Given the description of an element on the screen output the (x, y) to click on. 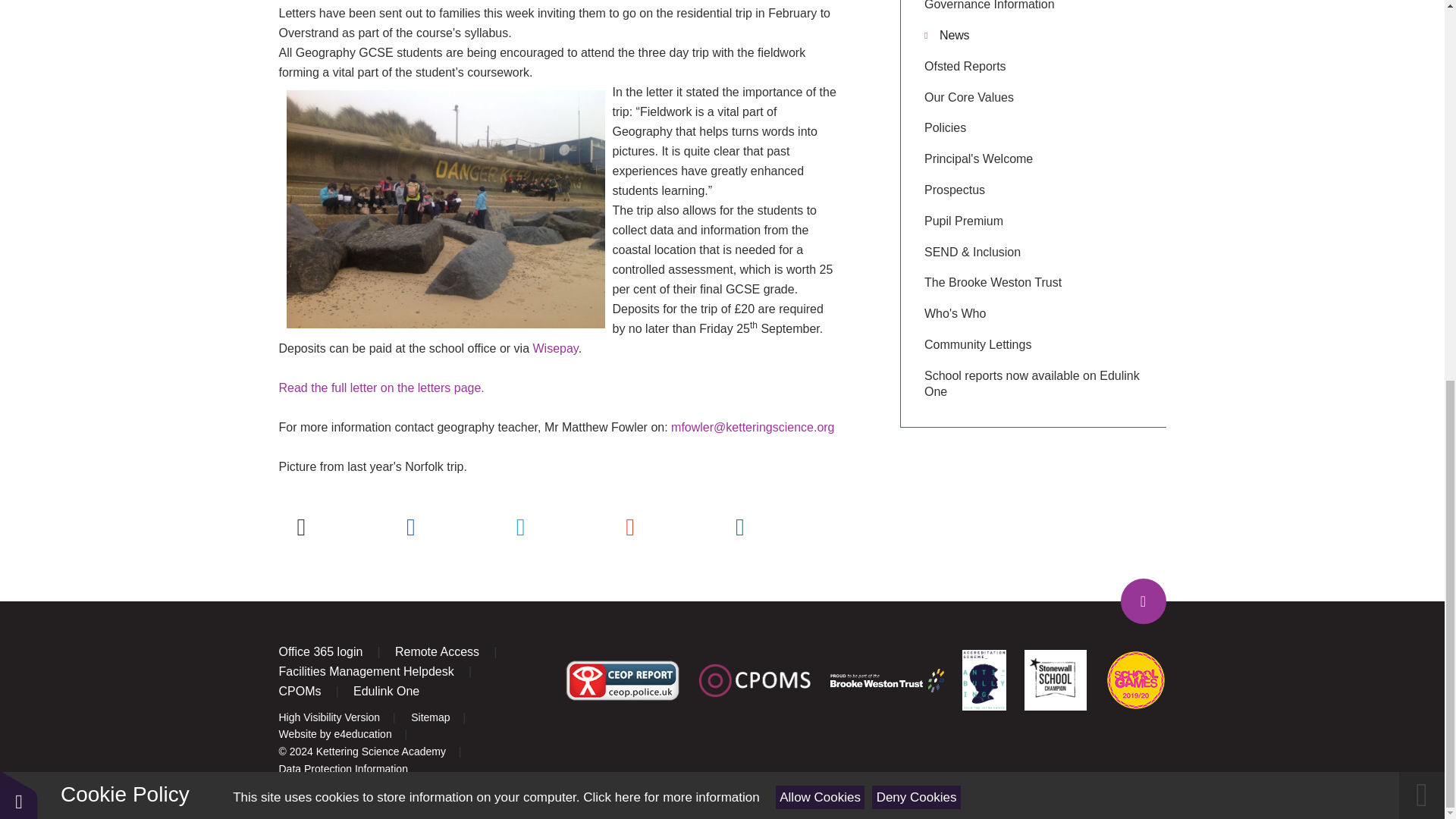
Deny Cookies (915, 88)
See cookie policy (670, 88)
Allow Cookies (820, 88)
